Given the description of an element on the screen output the (x, y) to click on. 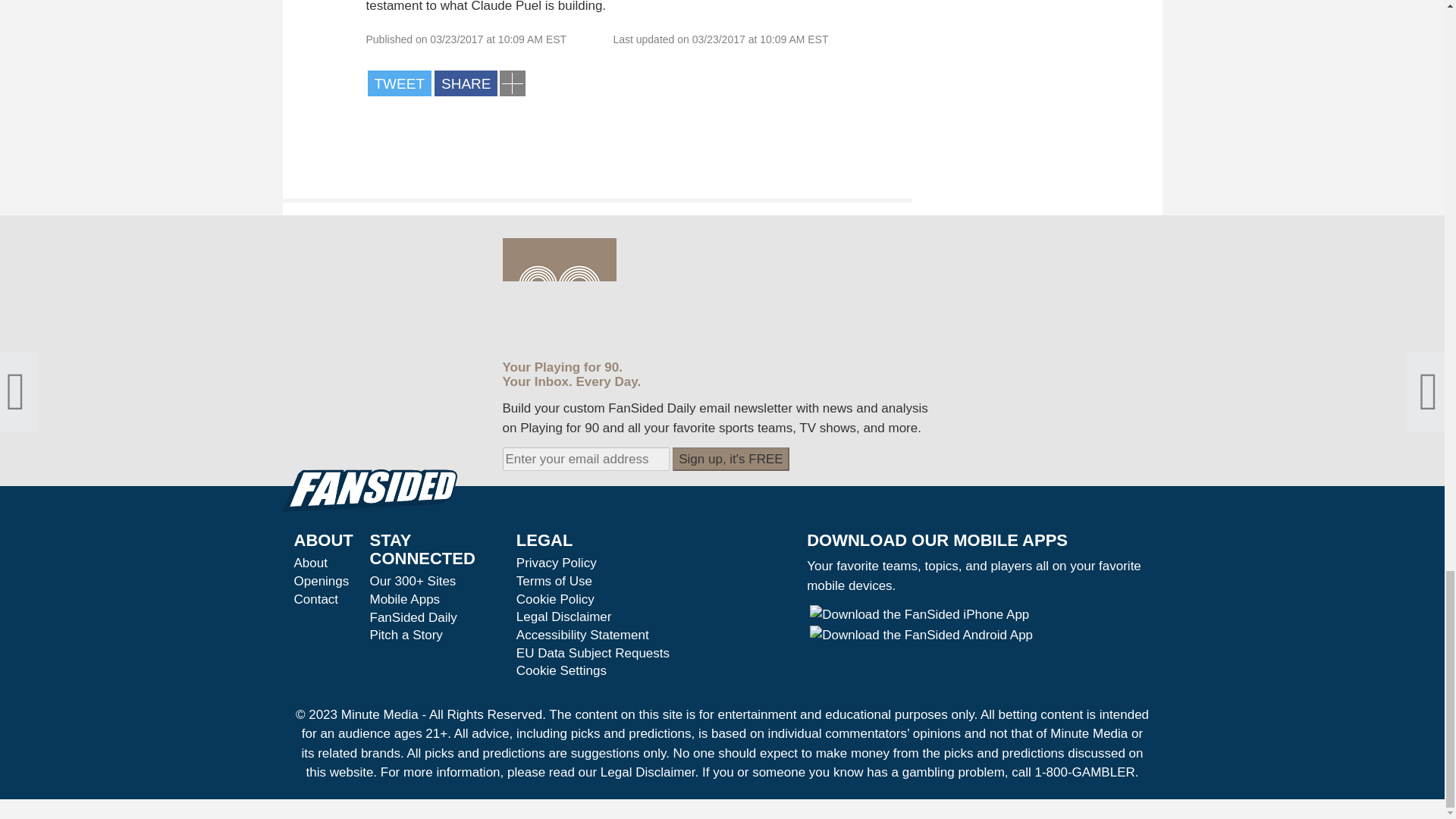
Sign up, it's FREE (730, 459)
